Given the description of an element on the screen output the (x, y) to click on. 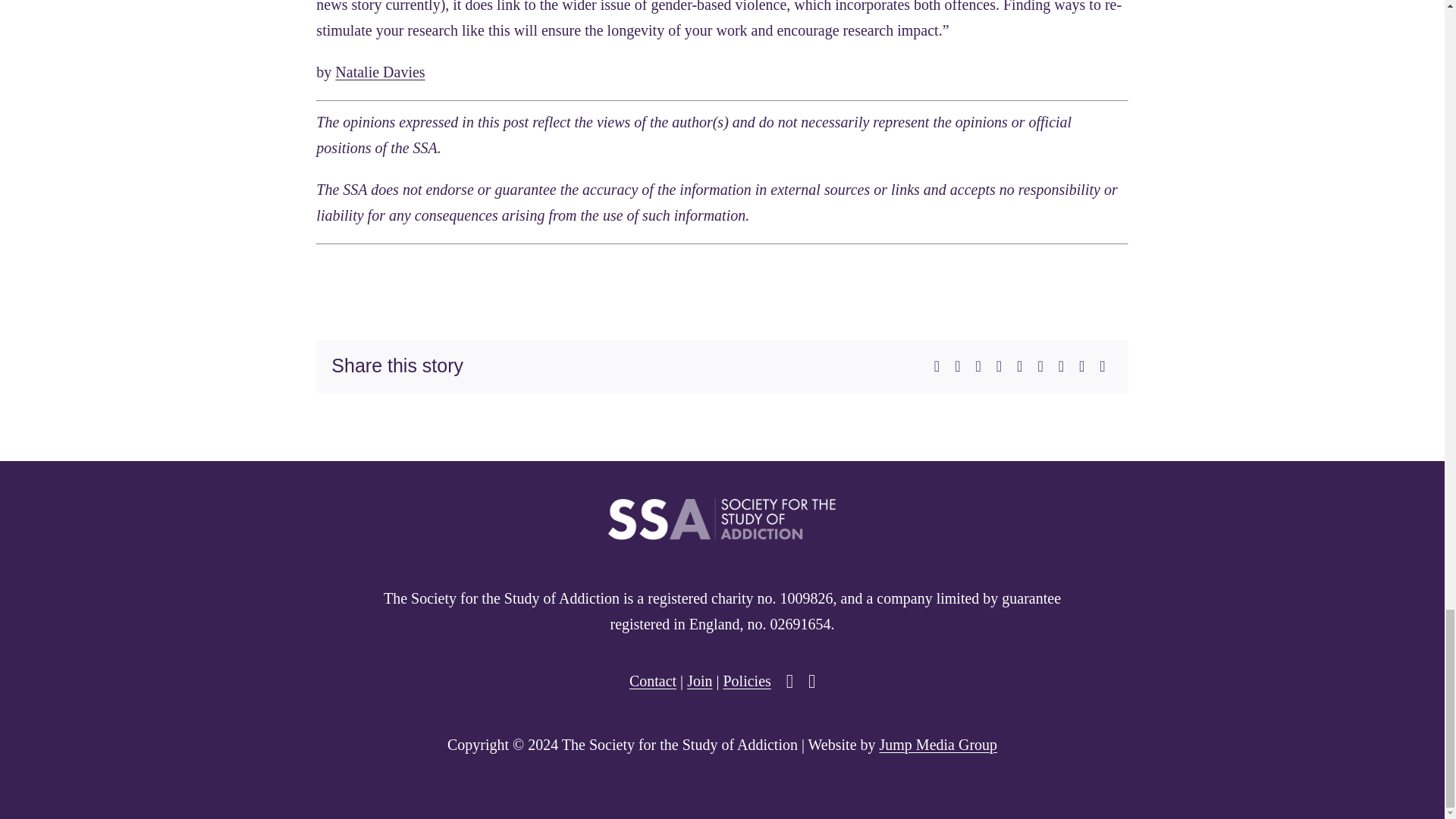
Natalie Davies (379, 71)
Join (699, 680)
Policies (746, 680)
Contact (652, 680)
Jump Media Group (938, 744)
